Given the description of an element on the screen output the (x, y) to click on. 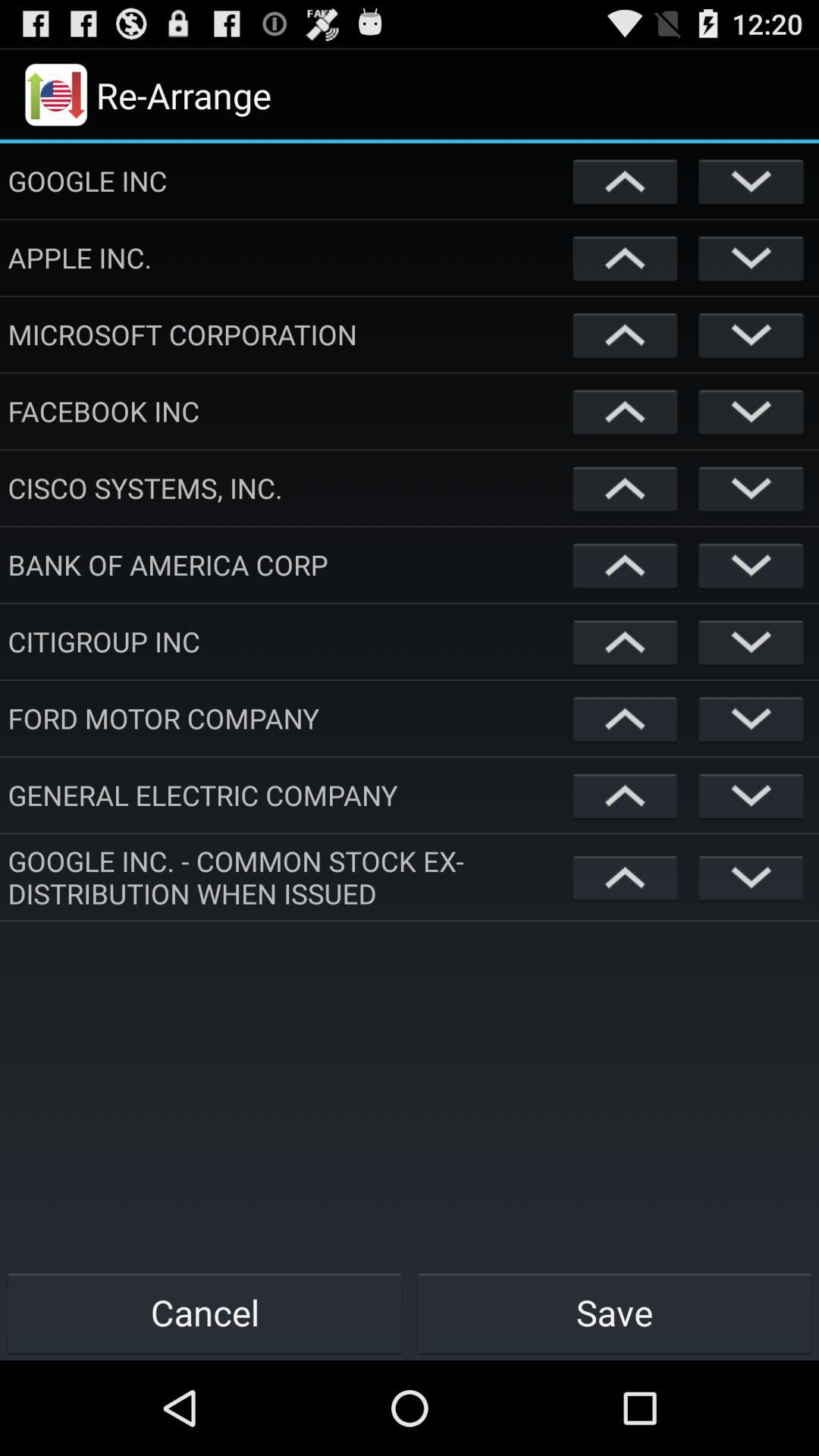
move item up list (624, 488)
